Given the description of an element on the screen output the (x, y) to click on. 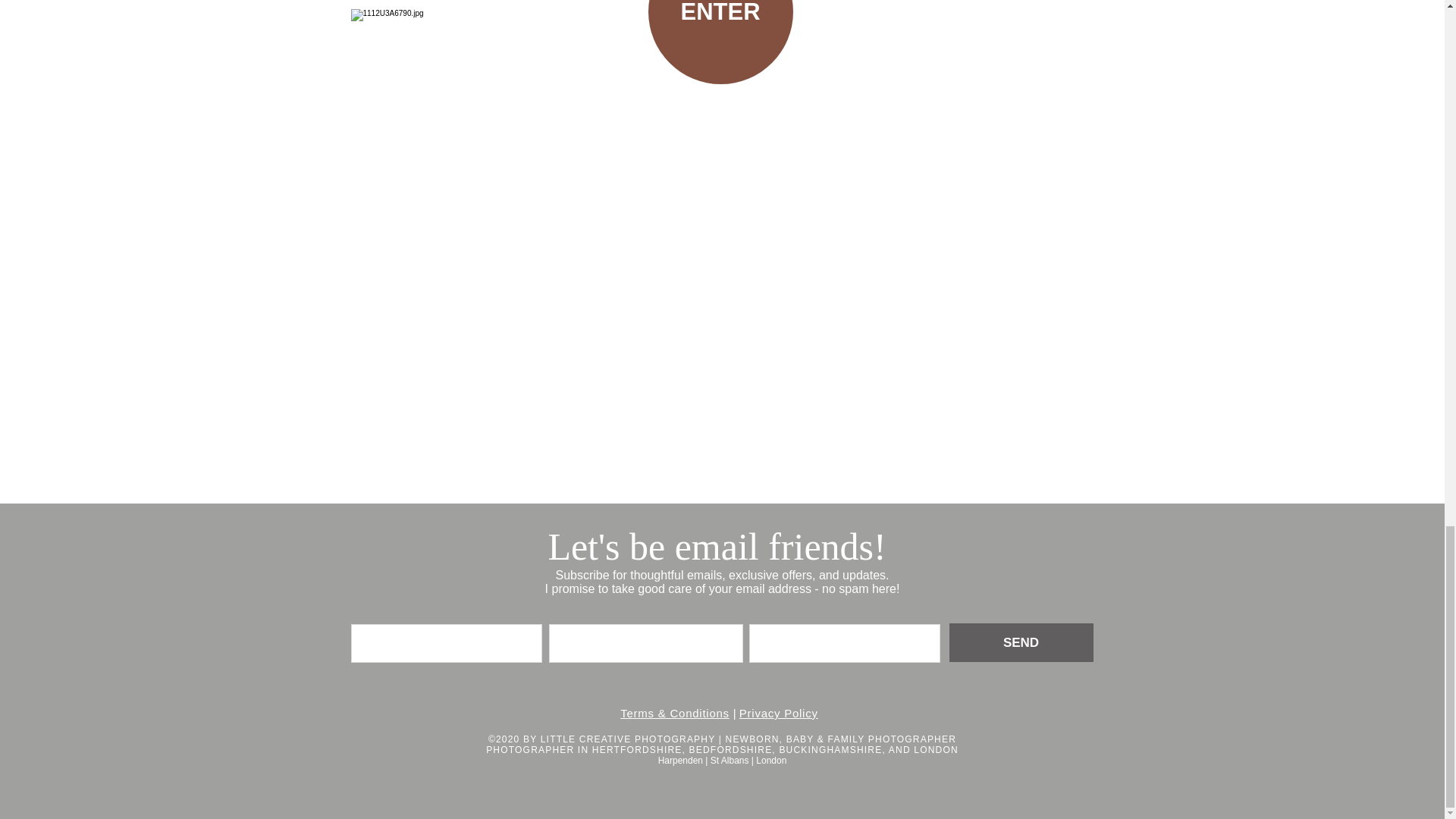
SEND (1021, 642)
Privacy Policy (778, 712)
ENTER (719, 42)
